Given the description of an element on the screen output the (x, y) to click on. 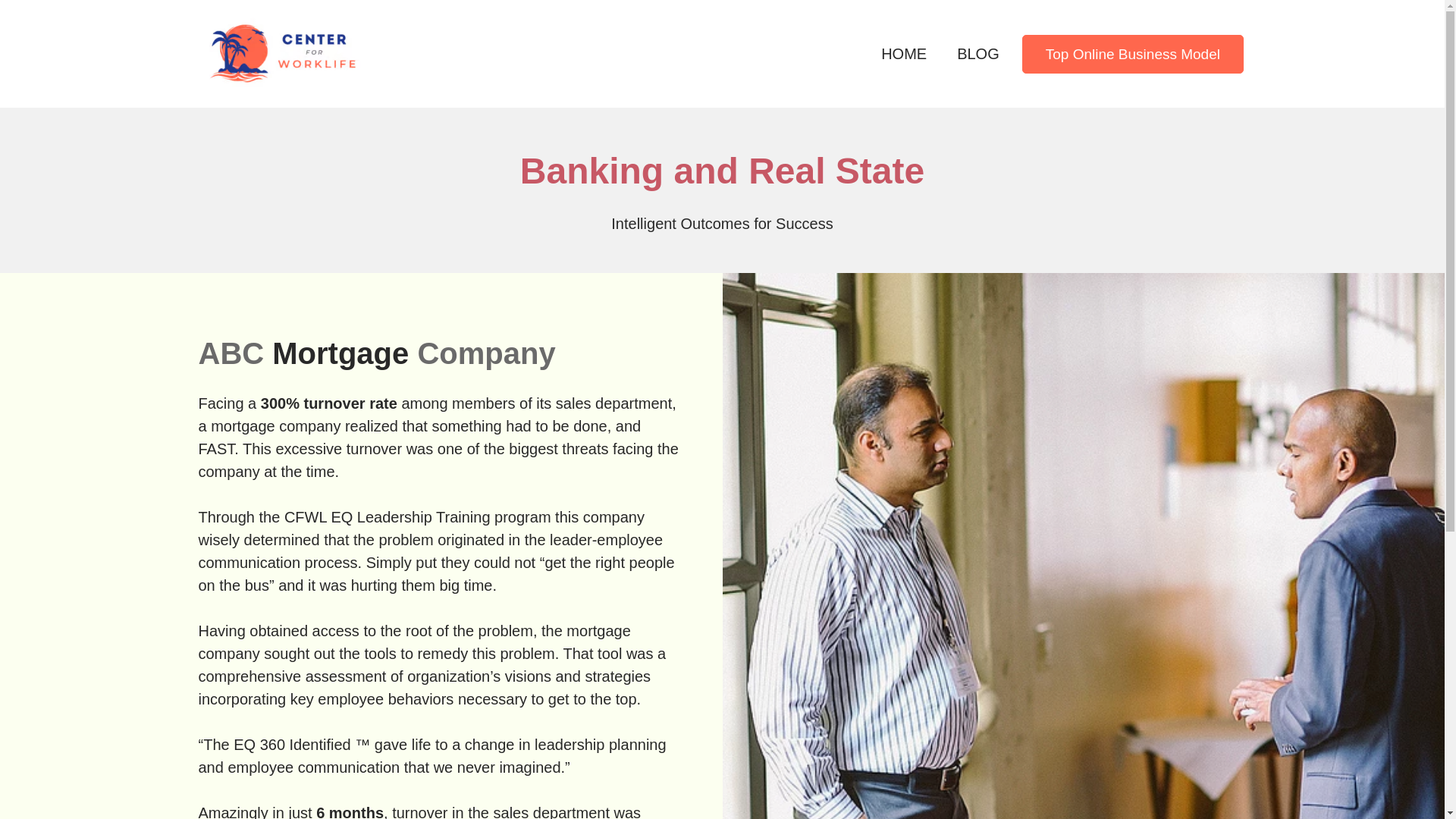
Top Online Business Model (1132, 54)
BLOG (977, 53)
HOME (903, 53)
